Given the description of an element on the screen output the (x, y) to click on. 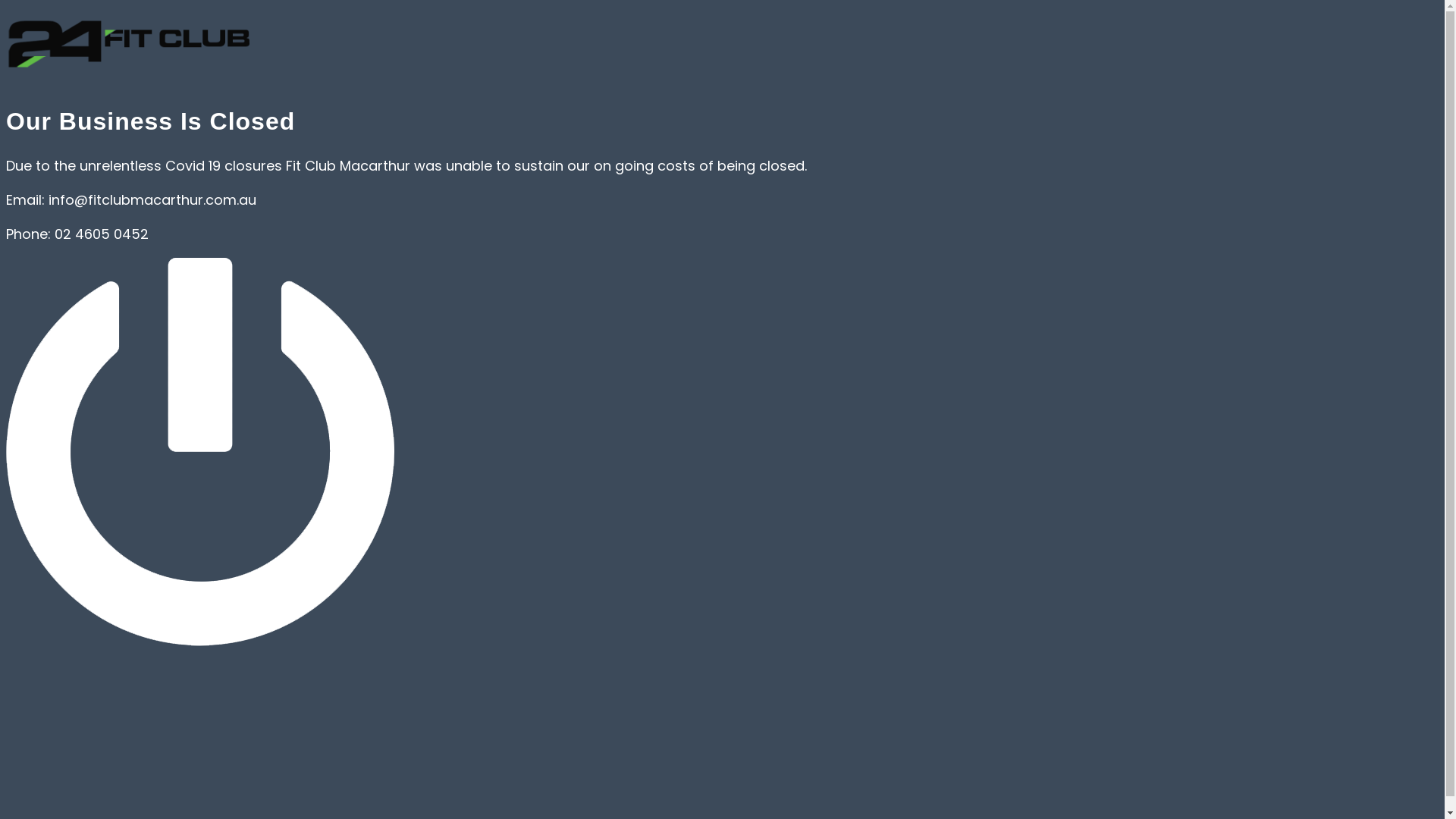
info@fitclubmacarthur.com.au Element type: text (152, 199)
02 4605 0452 Element type: text (101, 233)
